Given the description of an element on the screen output the (x, y) to click on. 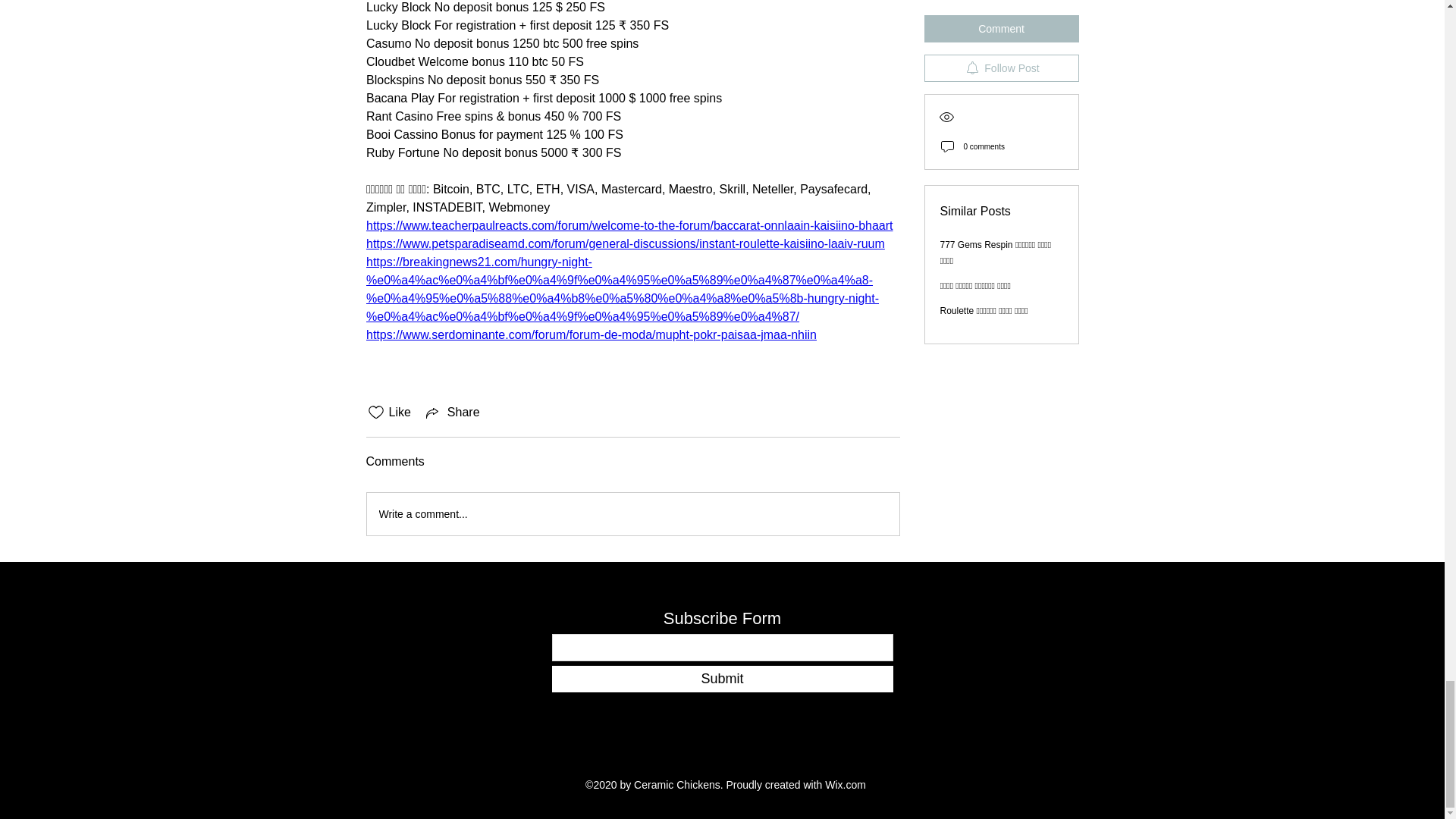
Write a comment... (632, 514)
Share (451, 412)
Submit (722, 678)
